Given the description of an element on the screen output the (x, y) to click on. 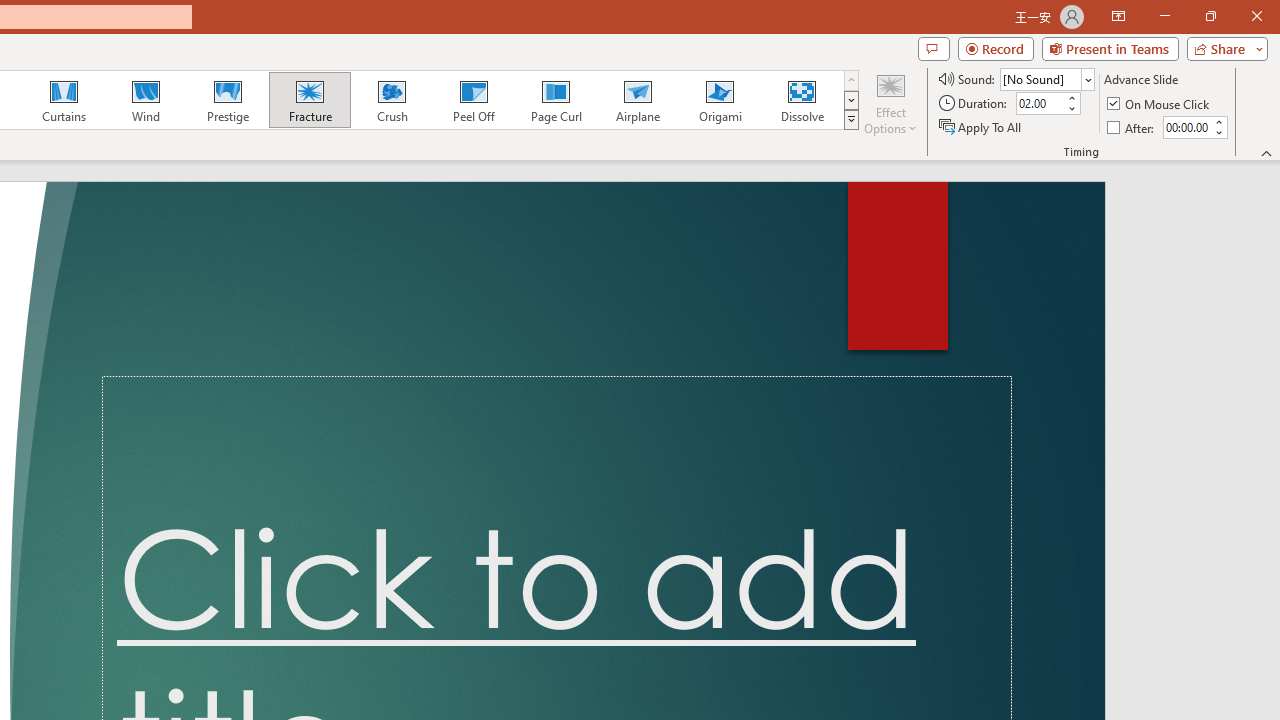
On Mouse Click (1159, 103)
Fracture (309, 100)
Airplane (637, 100)
Sound (1046, 78)
Effect Options (890, 102)
Page Curl (555, 100)
After (1131, 126)
Duration (1039, 103)
